Given the description of an element on the screen output the (x, y) to click on. 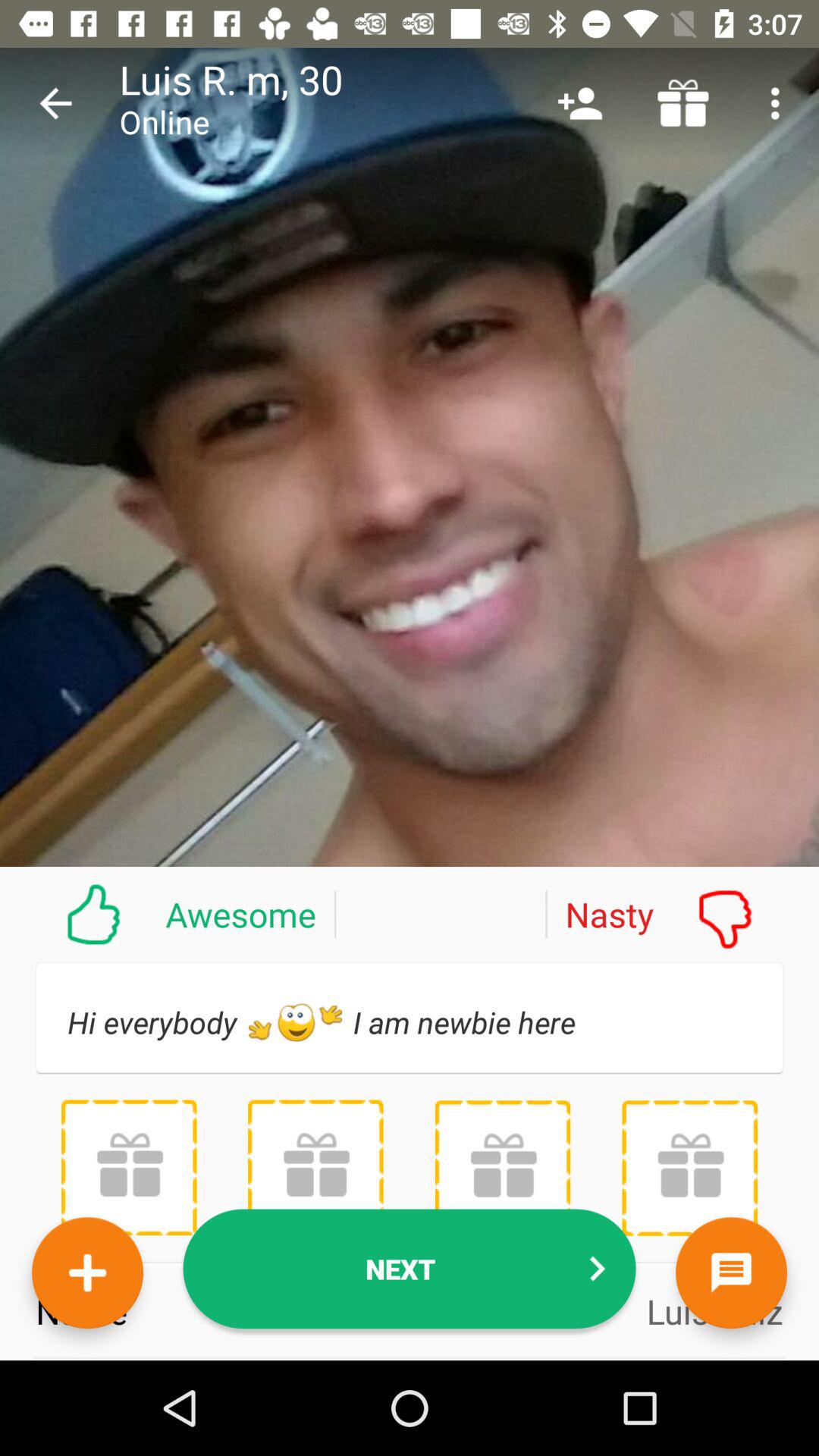
click the icon above hi everybody h (168, 914)
